Given the description of an element on the screen output the (x, y) to click on. 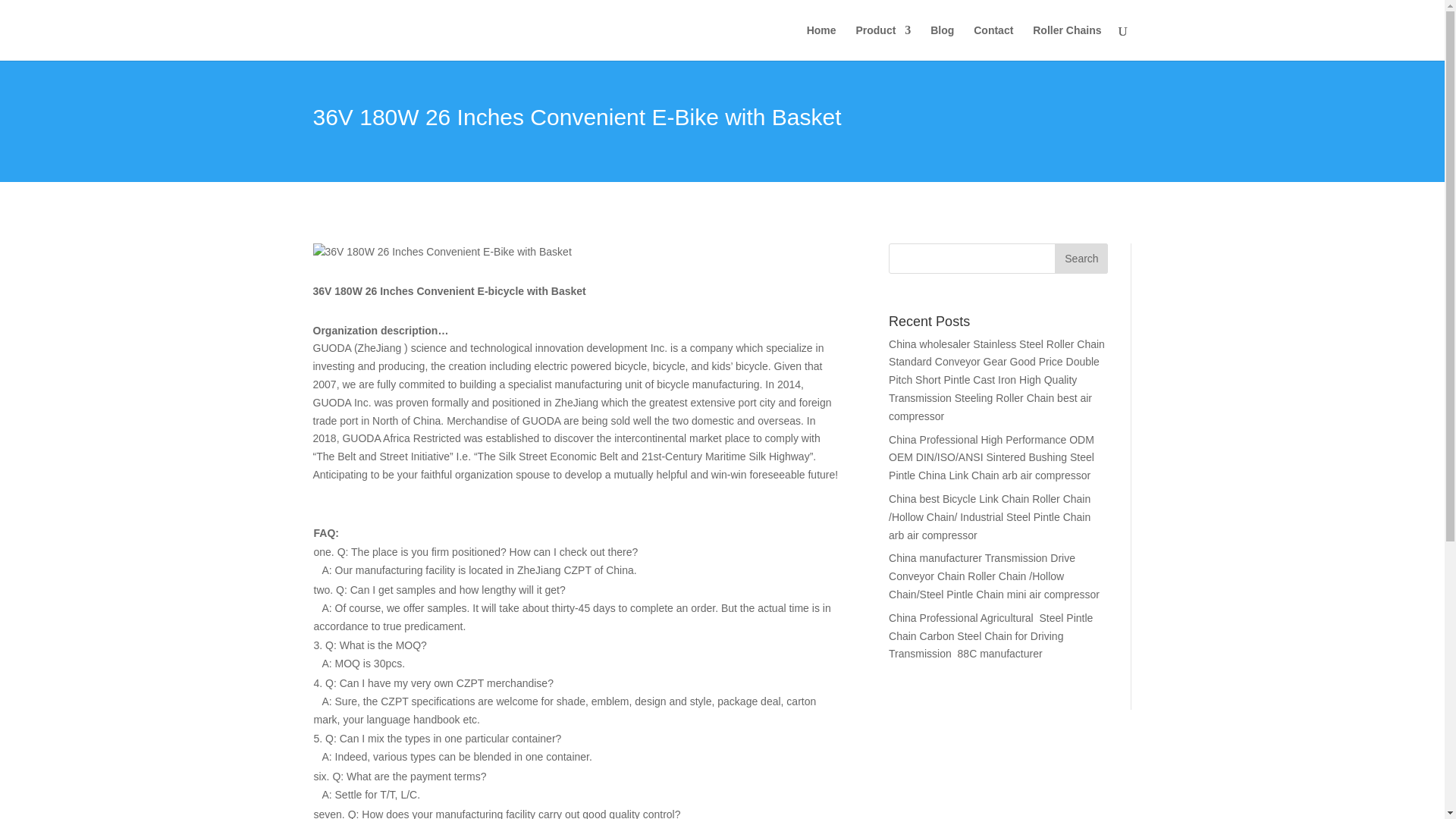
Search (1081, 258)
Search (1081, 258)
Contact (993, 42)
Product (883, 42)
36V 180W 26 Inches Convenient E-Bike with Basket (441, 252)
Roller Chains (1066, 42)
